Given the description of an element on the screen output the (x, y) to click on. 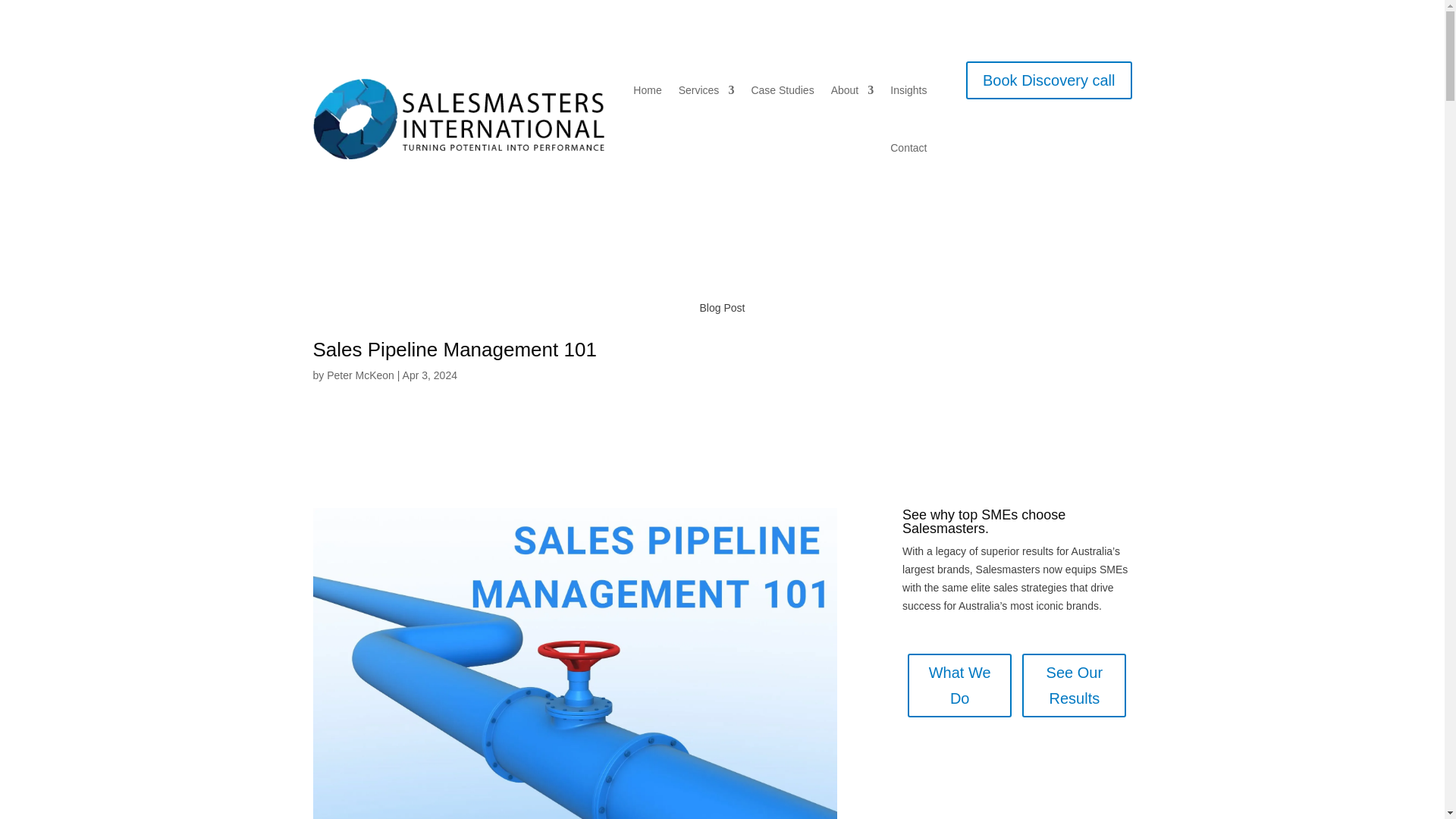
Book Discovery call (1049, 80)
Peter McKeon (360, 375)
Services (706, 89)
Case Studies (782, 89)
Posts by Peter McKeon (360, 375)
